Given the description of an element on the screen output the (x, y) to click on. 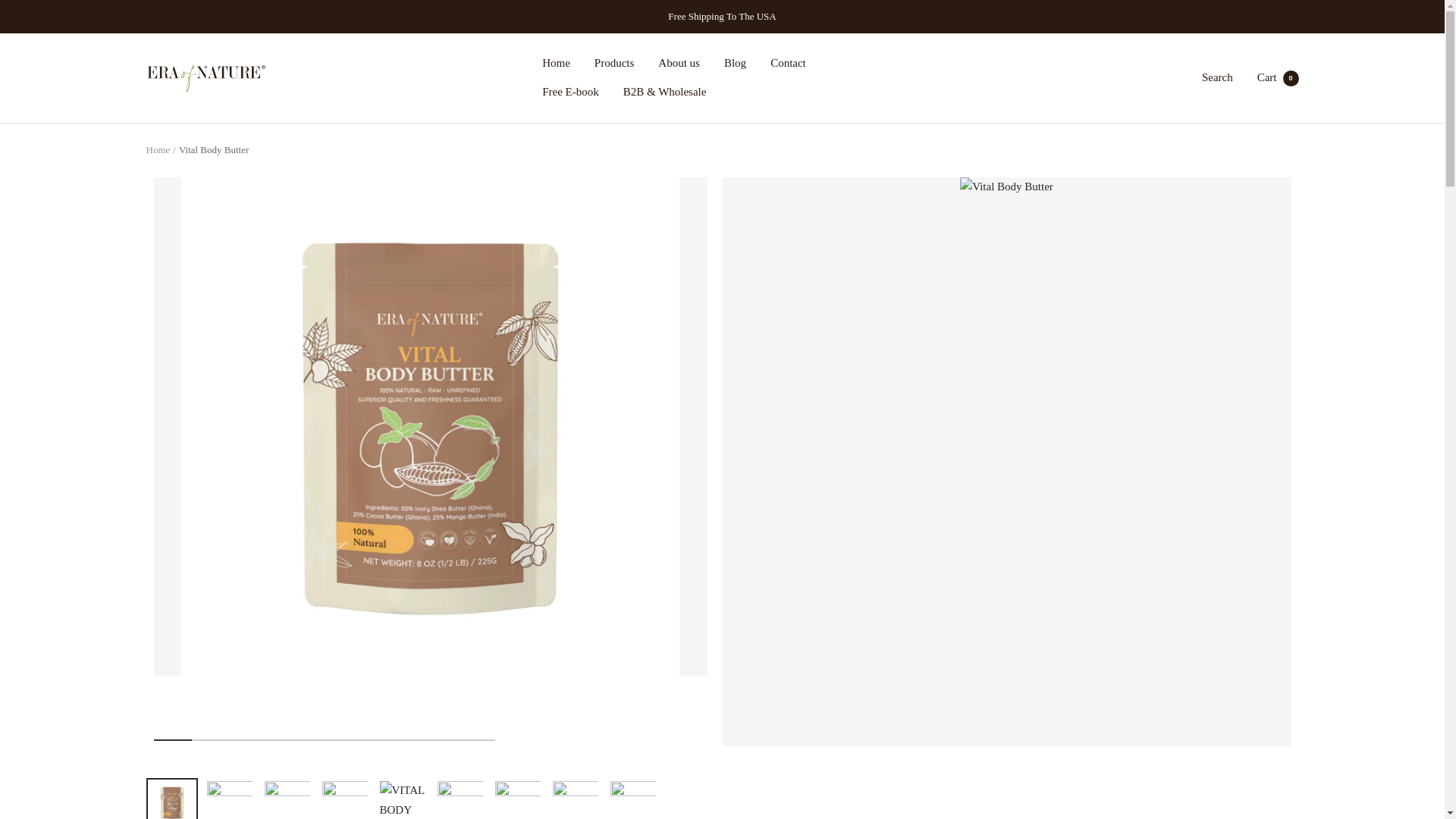
Era of Nature (205, 78)
Products (1277, 77)
Blog (614, 63)
Home (734, 63)
About us (555, 63)
Free E-book (679, 63)
Home (569, 92)
Contact (157, 149)
Search (788, 63)
